Given the description of an element on the screen output the (x, y) to click on. 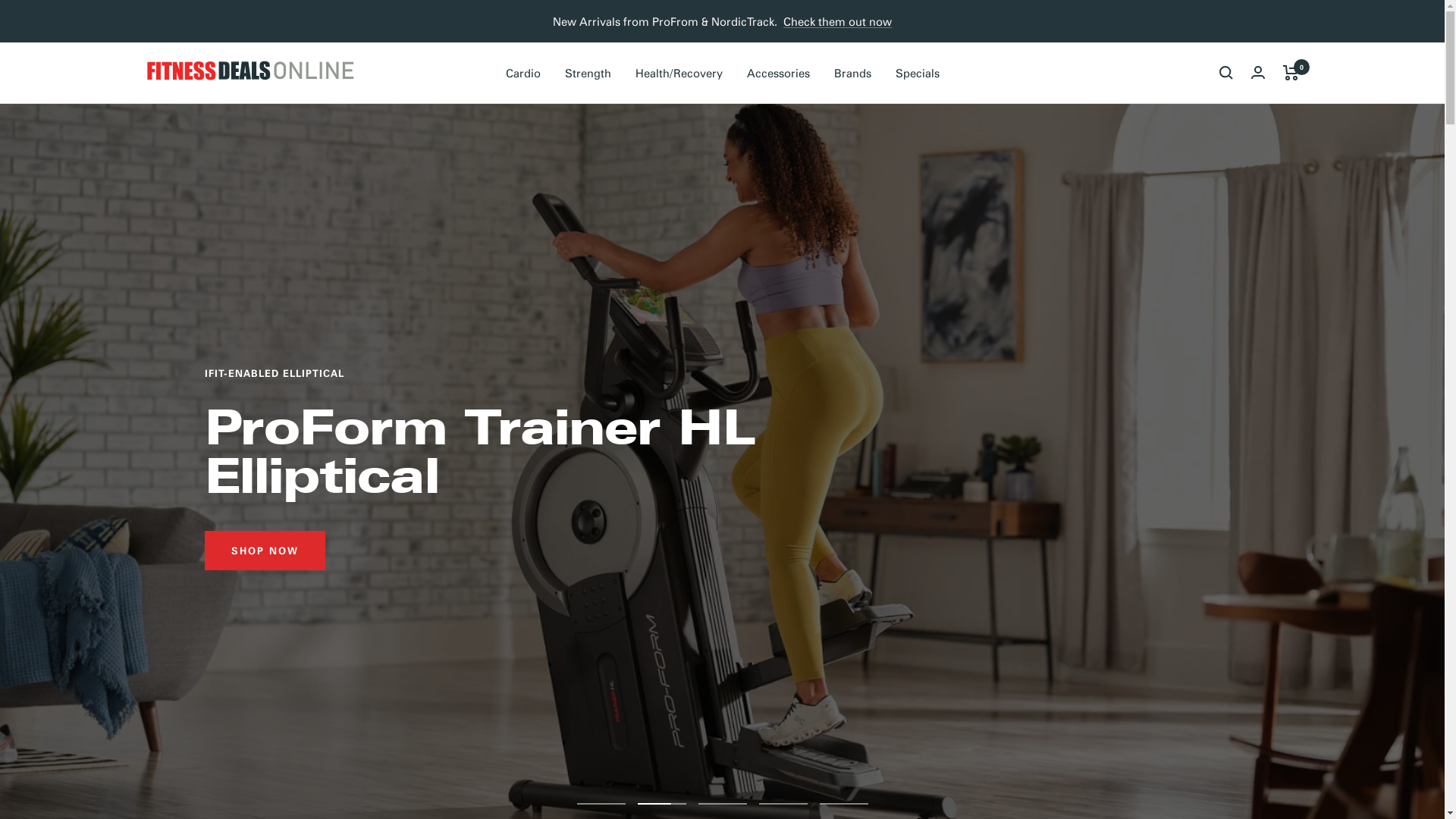
Brands Element type: text (852, 72)
Strength Element type: text (587, 72)
Specials Element type: text (916, 72)
Go to slide 4 Element type: text (782, 803)
0 Element type: text (1291, 72)
SHOP NOW Element type: text (1179, 526)
Go to slide 2 Element type: text (661, 803)
Health/Recovery Element type: text (678, 72)
Go to slide 1 Element type: text (600, 803)
Go to slide 3 Element type: text (721, 803)
Go to slide 5 Element type: text (843, 803)
Fitness Deals Online Element type: text (249, 72)
Accessories Element type: text (777, 72)
Cardio Element type: text (522, 72)
Check them out now Element type: text (837, 21)
